Given the description of an element on the screen output the (x, y) to click on. 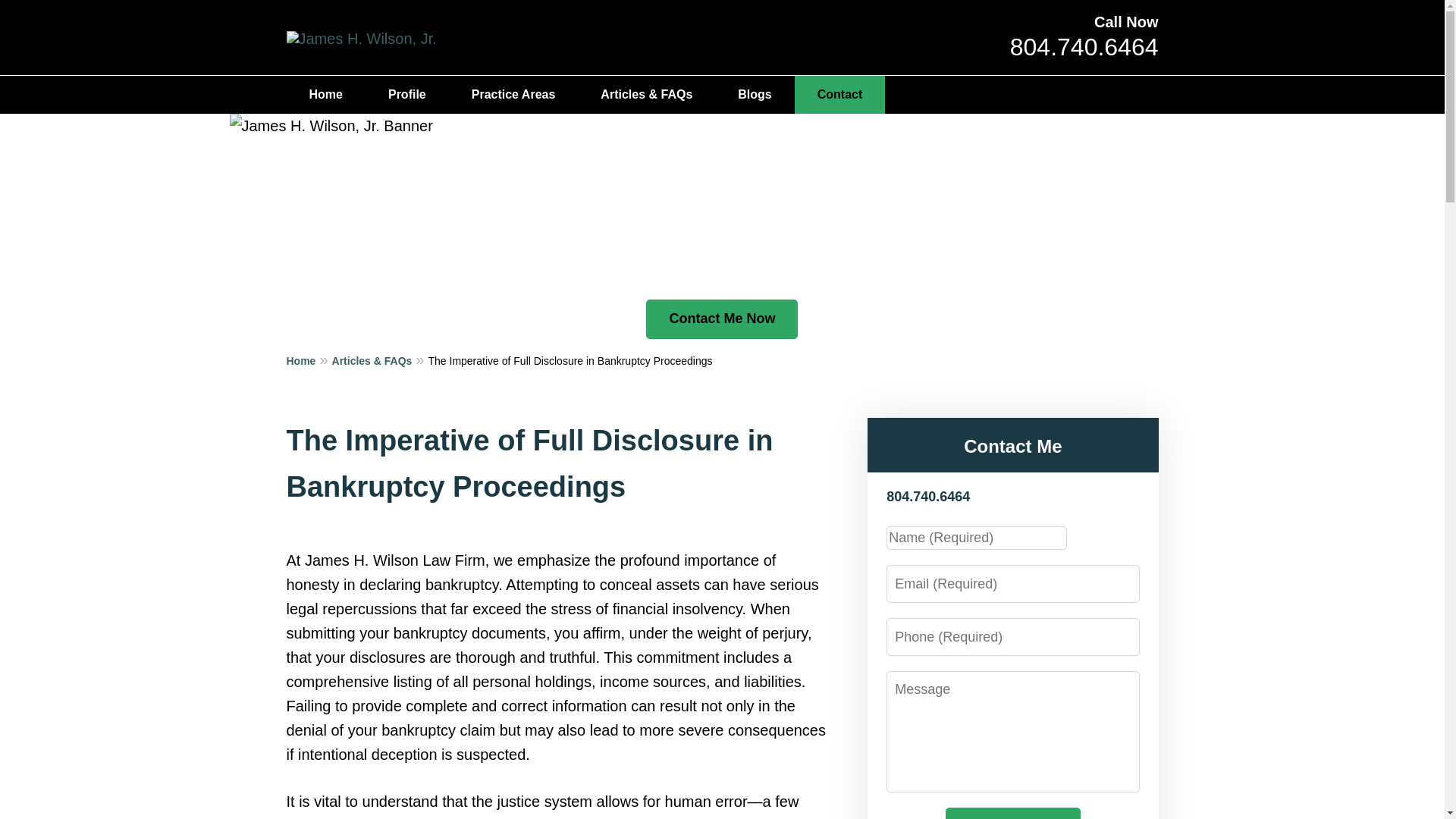
Home (325, 94)
Practice Areas (513, 94)
Home (308, 360)
Contact Us Now (1012, 813)
Profile (406, 94)
Call Now (1125, 21)
Blogs (753, 94)
Contact Me Now (721, 319)
804.740.6464 (1084, 46)
Contact (839, 94)
